Given the description of an element on the screen output the (x, y) to click on. 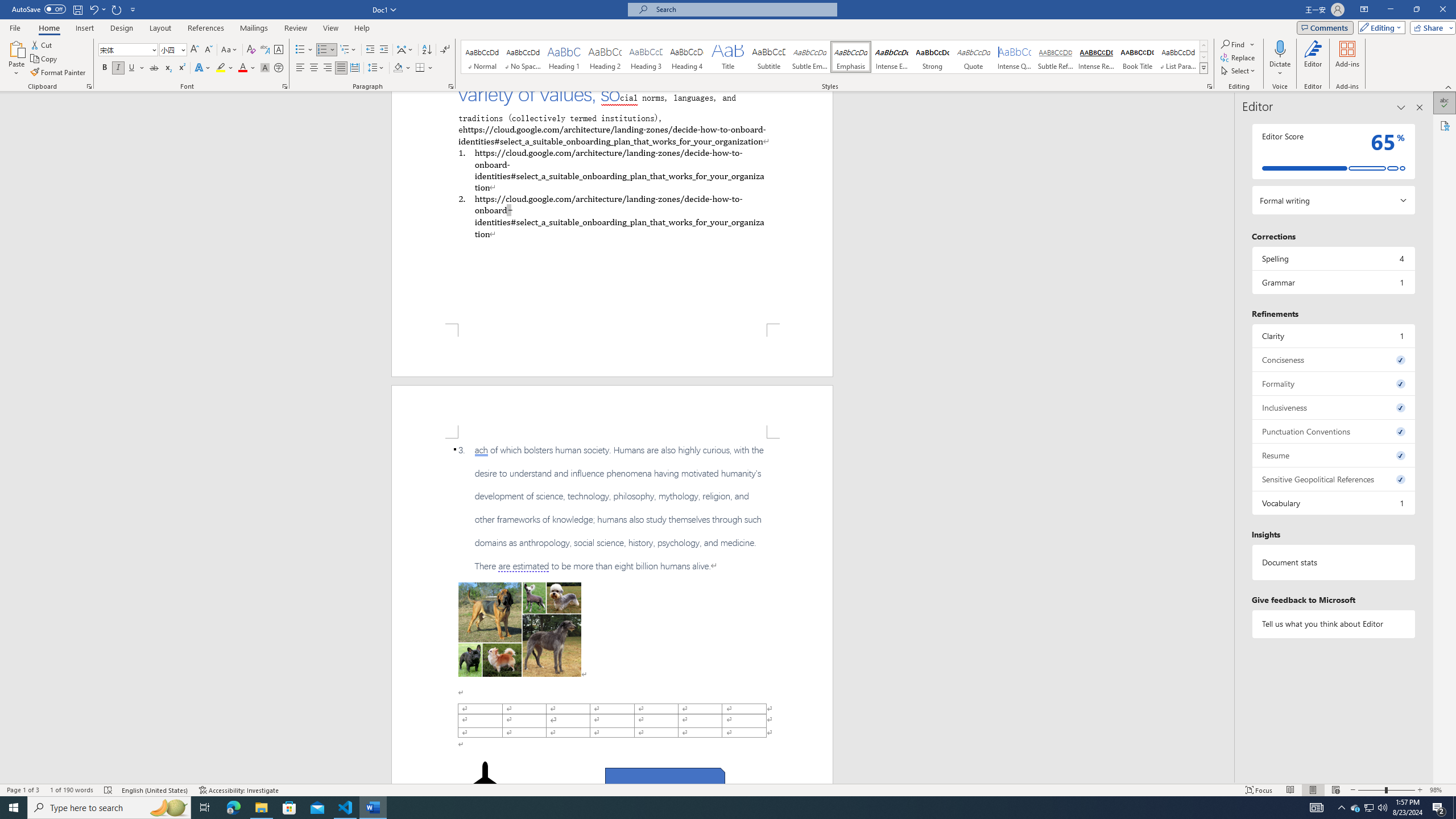
Heading 3 (646, 56)
Subtle Reference (1055, 56)
Editor Score 65% (1333, 151)
Formality, 0 issues. Press space or enter to review items. (1333, 383)
